Given the description of an element on the screen output the (x, y) to click on. 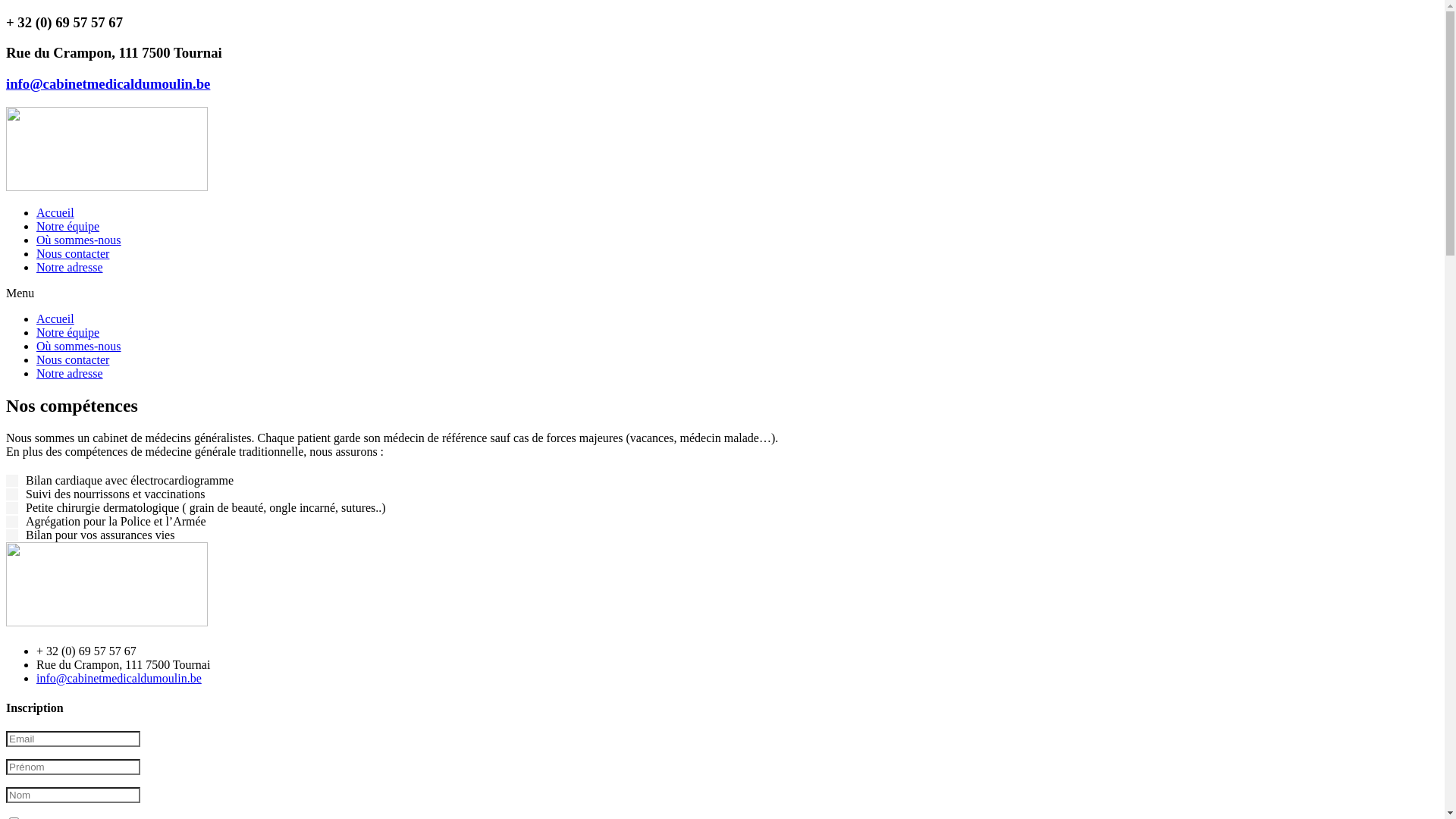
Nous contacter Element type: text (72, 253)
Aller au contenu Element type: text (6, 14)
Notre adresse Element type: text (69, 373)
Nous contacter Element type: text (72, 359)
Notre adresse Element type: text (69, 266)
info@cabinetmedicaldumoulin.be Element type: text (118, 677)
Accueil Element type: text (55, 212)
Accueil Element type: text (55, 318)
info@cabinetmedicaldumoulin.be Element type: text (108, 83)
